Given the description of an element on the screen output the (x, y) to click on. 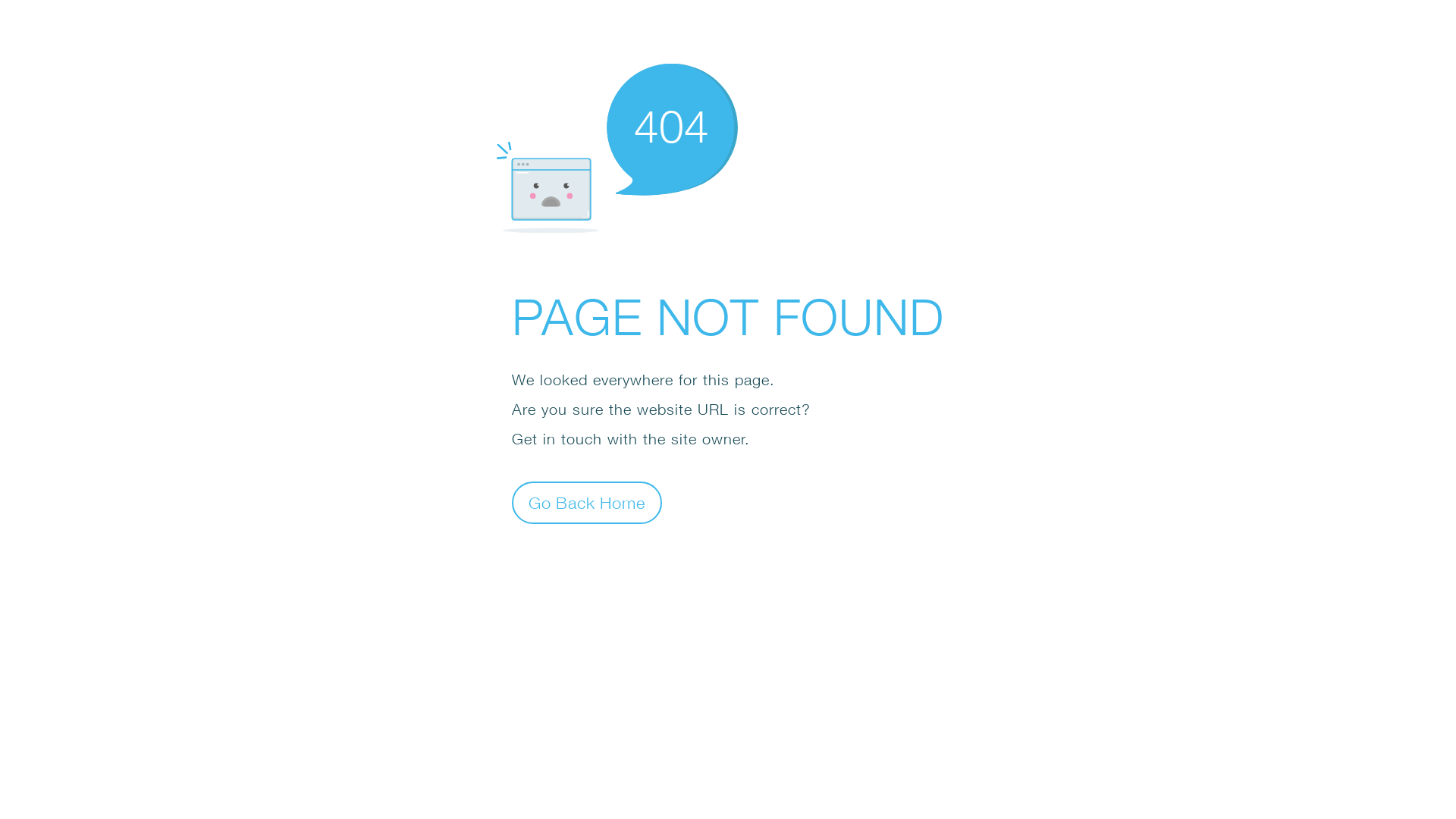
Go Back Home Element type: text (586, 502)
